Given the description of an element on the screen output the (x, y) to click on. 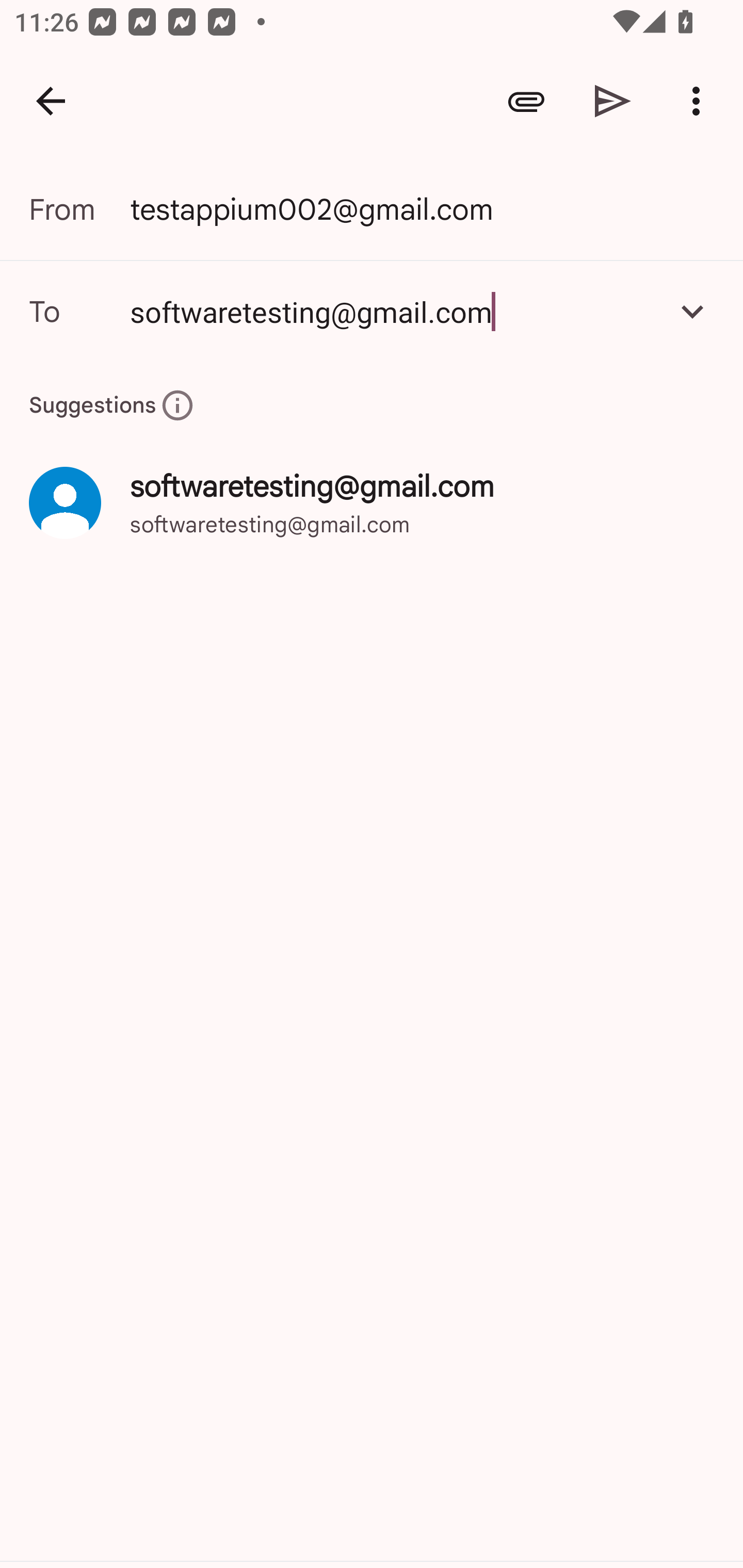
Navigate up (50, 101)
Attach file (525, 101)
Send (612, 101)
More options (699, 101)
From (79, 209)
Add Cc/Bcc (692, 311)
softwaretesting@gmail.com (371, 311)
softwaretesting@gmail.com (393, 311)
